Given the description of an element on the screen output the (x, y) to click on. 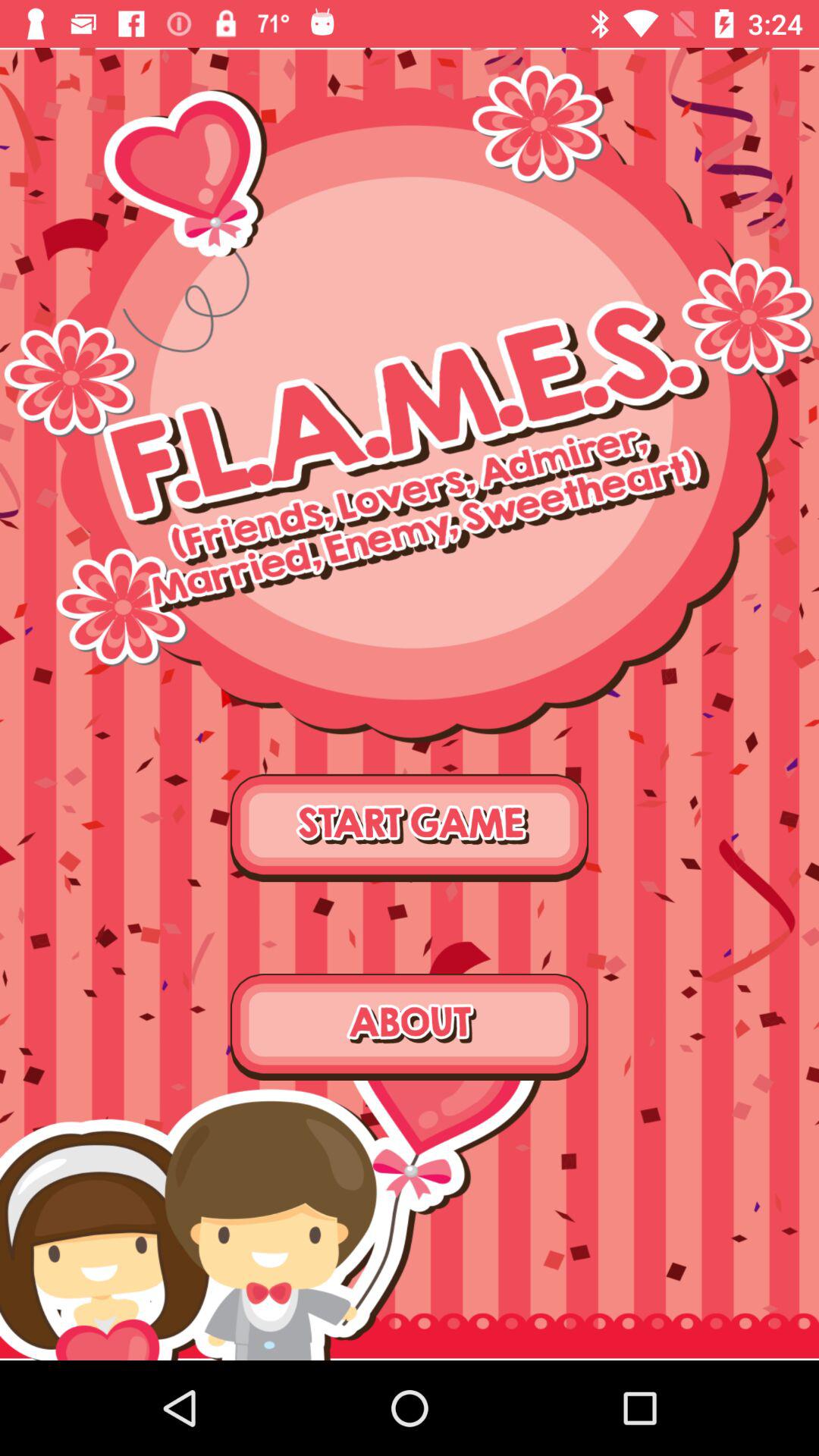
get info about app (409, 1026)
